Given the description of an element on the screen output the (x, y) to click on. 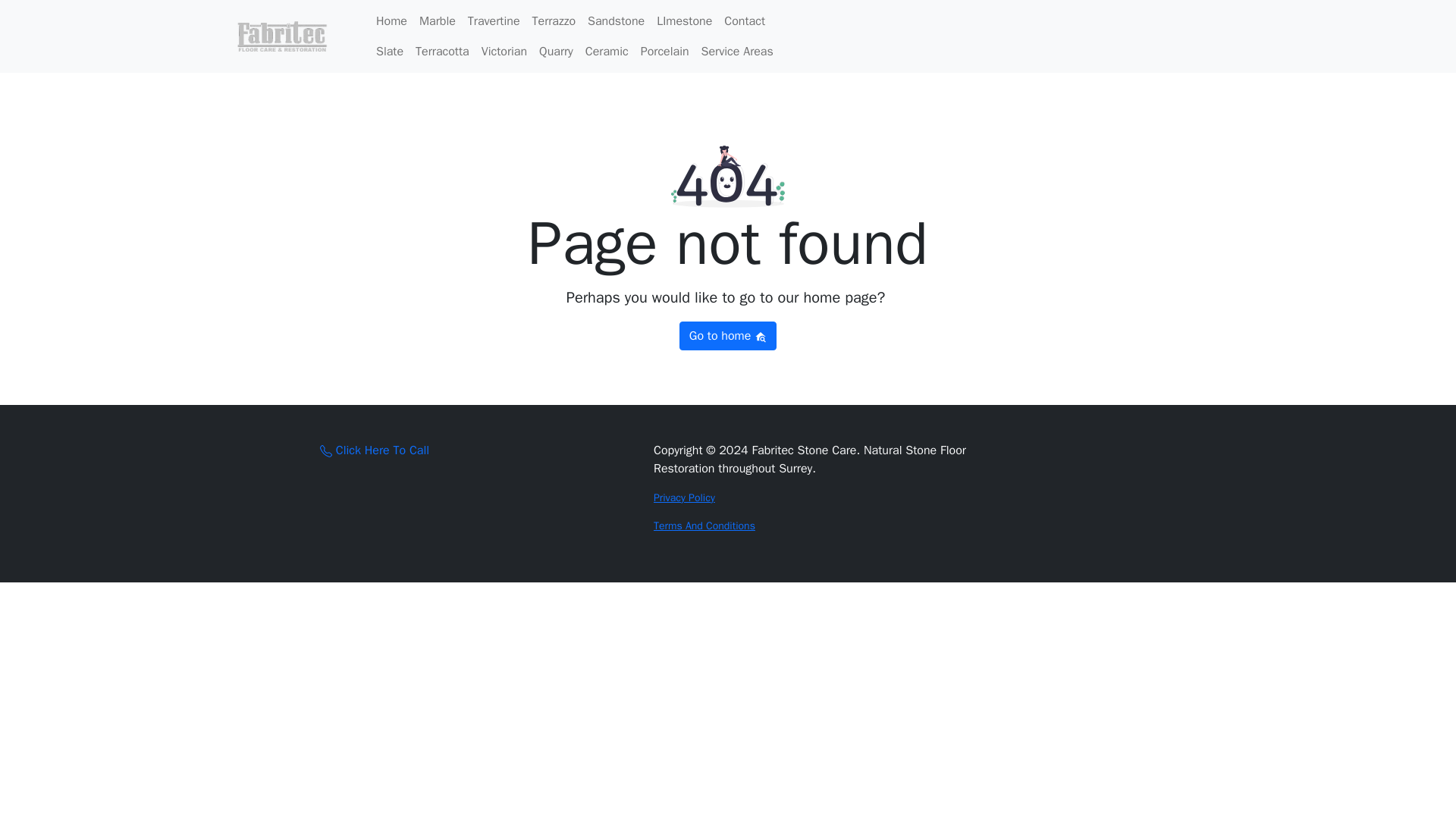
: (325, 450)
Contact (744, 20)
Privacy Policy (683, 497)
Terracotta (442, 51)
Travertine (493, 20)
Terms And Conditions (704, 525)
Sandstone (615, 20)
Victorian (504, 51)
LImestone (683, 20)
Go to home (727, 335)
